Given the description of an element on the screen output the (x, y) to click on. 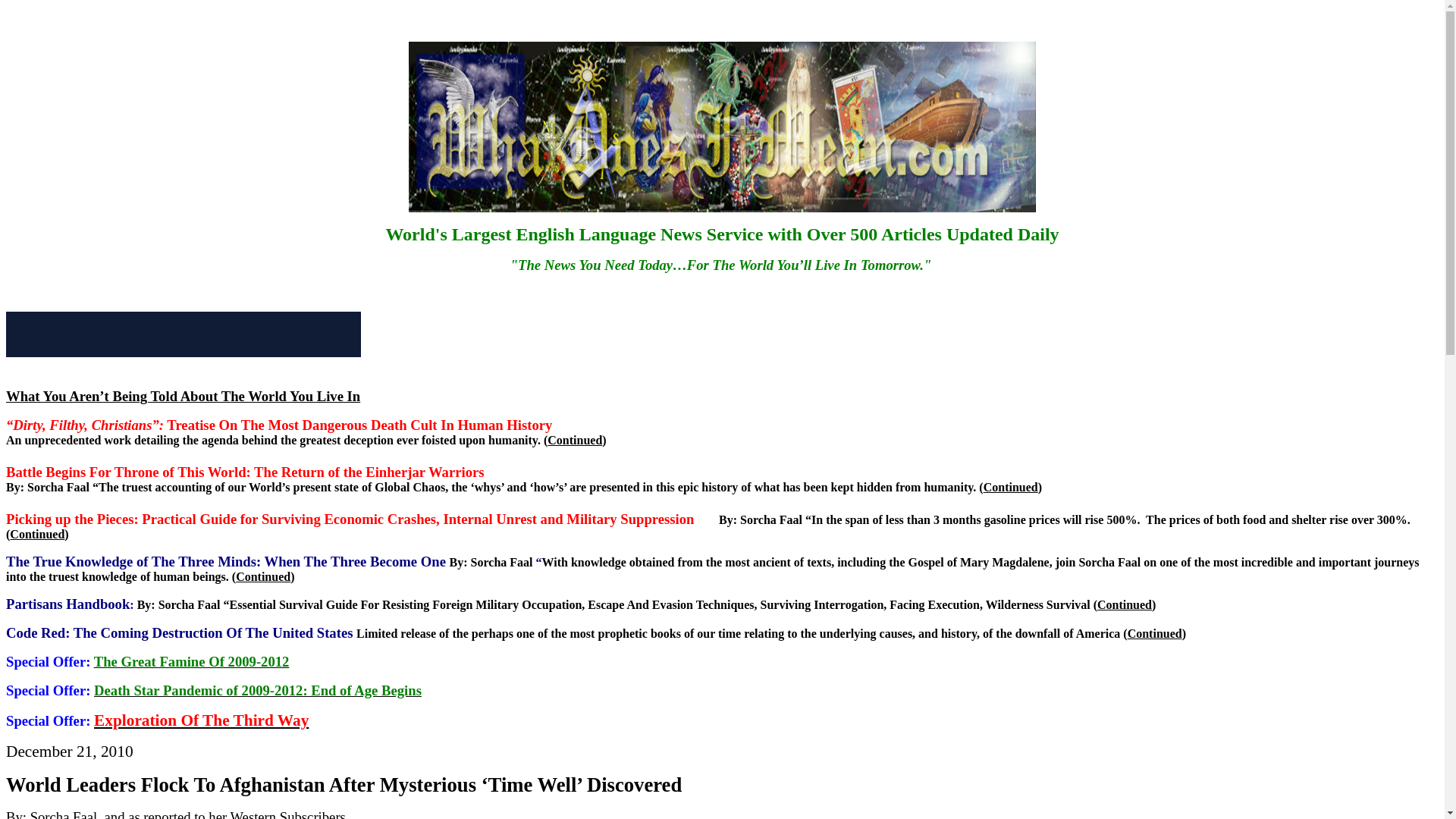
Continued (37, 533)
The Great Famine Of 2009-2012 (191, 661)
Continued (1154, 633)
Continued (574, 440)
Continued (1124, 604)
Death Star Pandemic of 2009-2012: End of Age Begins (258, 690)
Continued (262, 576)
Continued (1011, 486)
Exploration Of The Third Way (201, 720)
